Given the description of an element on the screen output the (x, y) to click on. 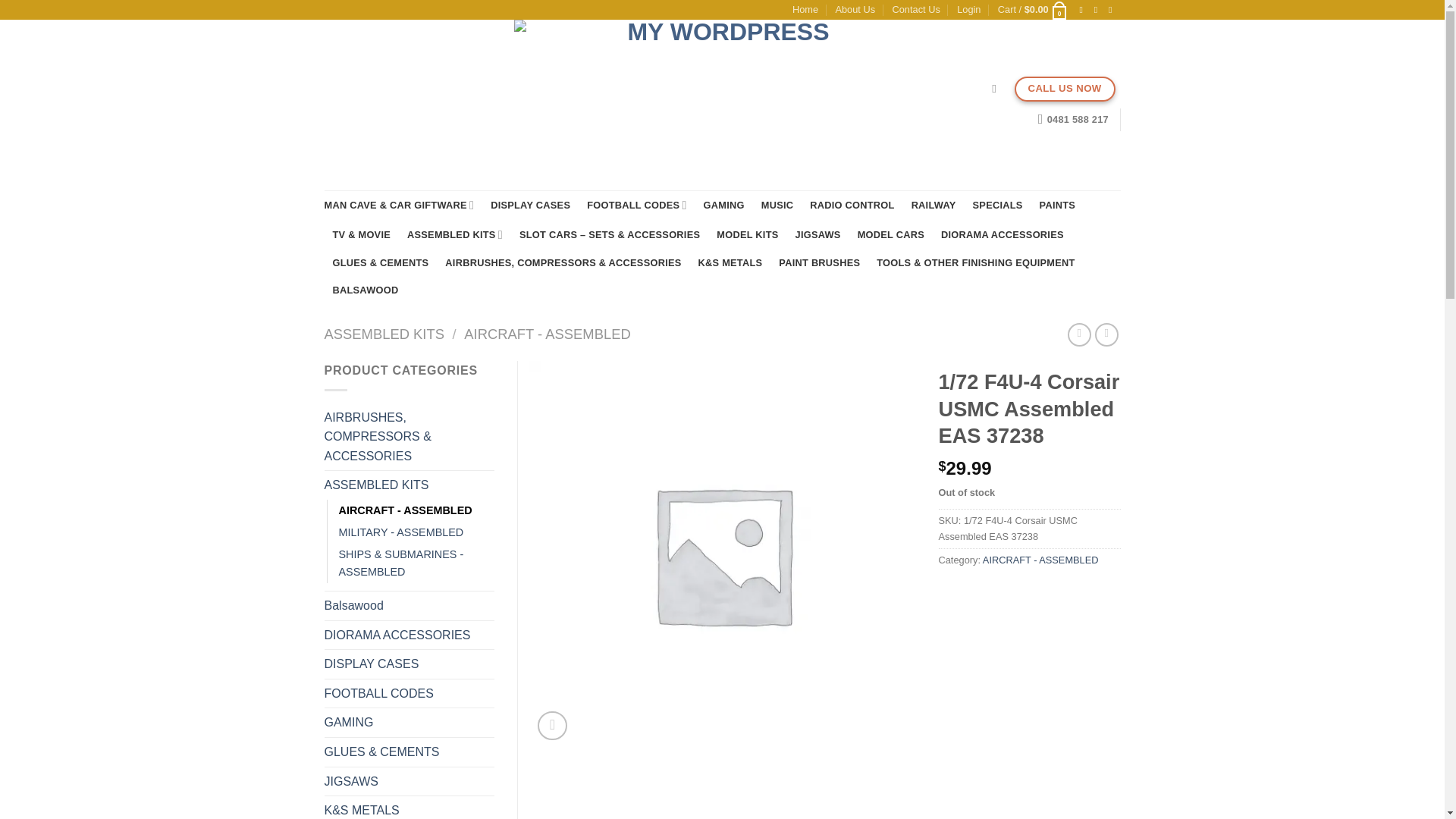
About Us (854, 9)
Cart (1032, 9)
RADIO CONTROL (851, 205)
Home (805, 9)
FOOTBALL CODES (635, 205)
0481 588 217 (1073, 119)
CALL US NOW (1064, 88)
0481 588 217 (1073, 119)
PAINTS (1057, 205)
Zoom (552, 726)
